Given the description of an element on the screen output the (x, y) to click on. 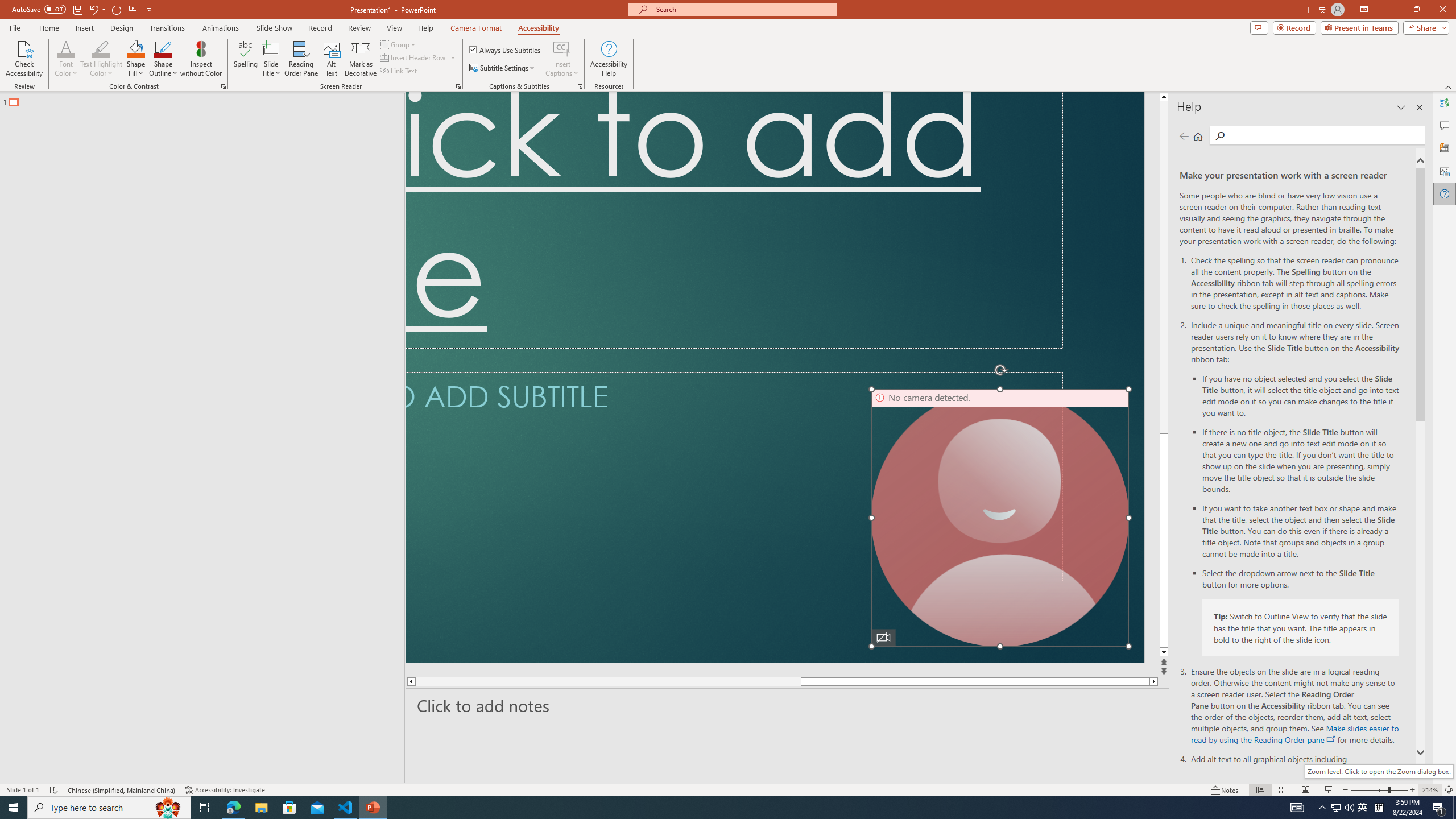
Shape Outline (163, 58)
Reading Order Pane (301, 58)
Insert Header Row (418, 56)
Inspect without Color (201, 58)
Insert Captions (561, 58)
Camera 8, No camera detected. (999, 517)
